Given the description of an element on the screen output the (x, y) to click on. 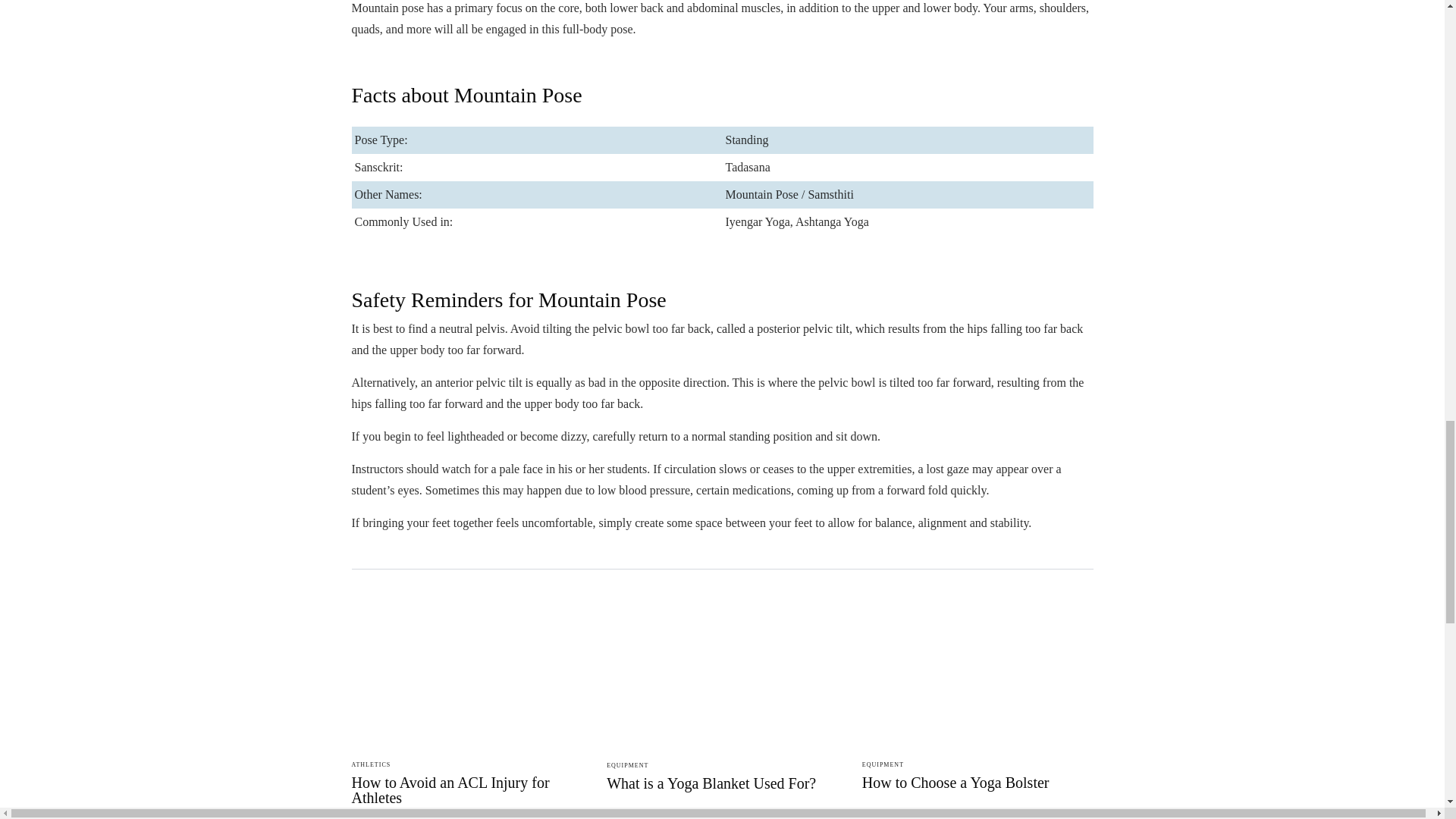
ATHLETICS (371, 764)
EQUIPMENT (627, 765)
EQUIPMENT (882, 764)
